Given the description of an element on the screen output the (x, y) to click on. 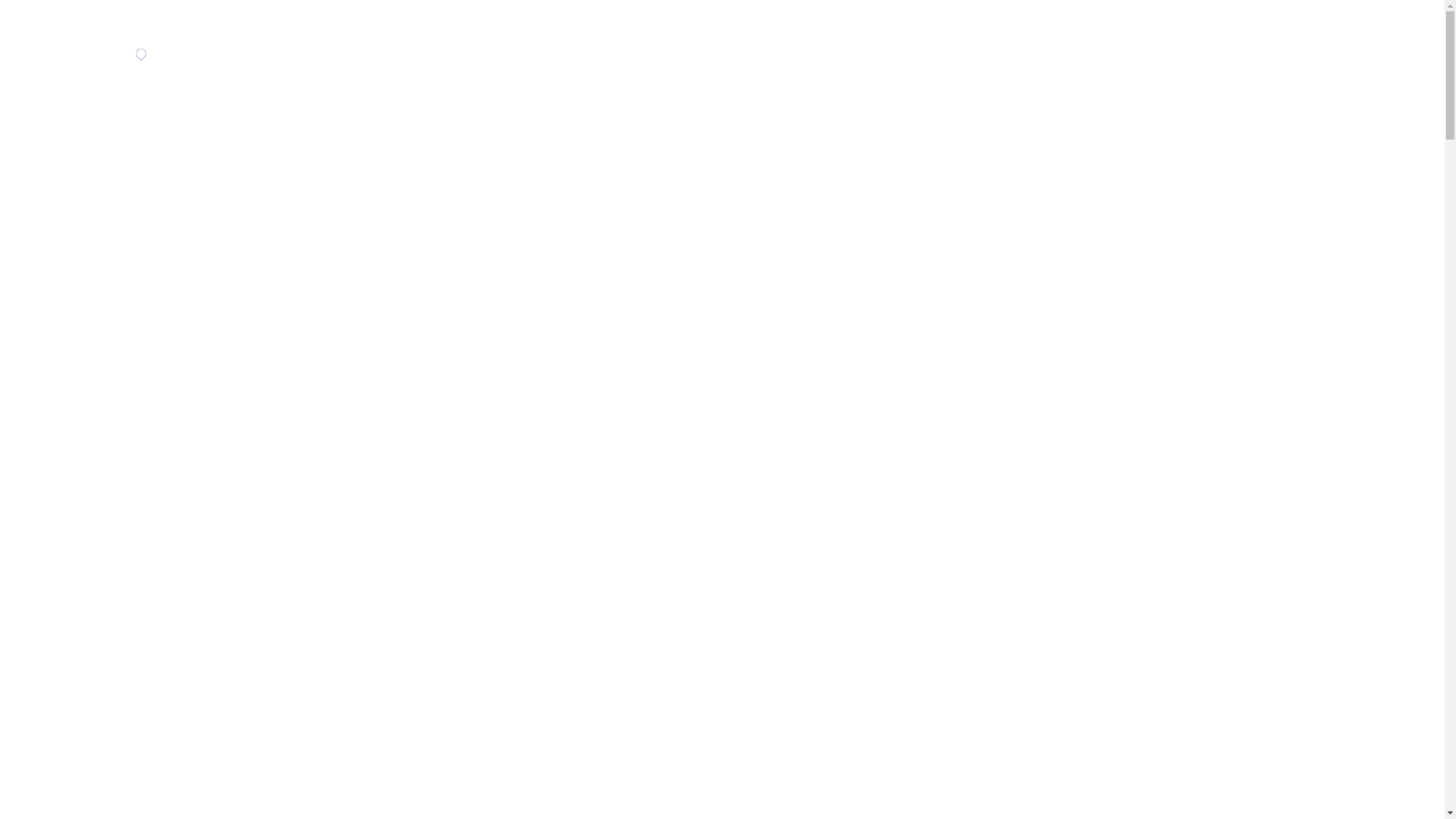
Contact us Element type: text (1391, 311)
Our products Element type: text (1384, 279)
Suppliers & Partners Element type: text (1389, 119)
For patients Element type: text (1387, 343)
Sustainable business Element type: text (1388, 71)
Careers Element type: text (1400, 159)
Disease areas Element type: text (1379, 30)
About us Element type: text (1396, 191)
Novo Nordisk Australia Element type: text (190, 54)
For healthcare professionals Element type: text (1380, 383)
